Given the description of an element on the screen output the (x, y) to click on. 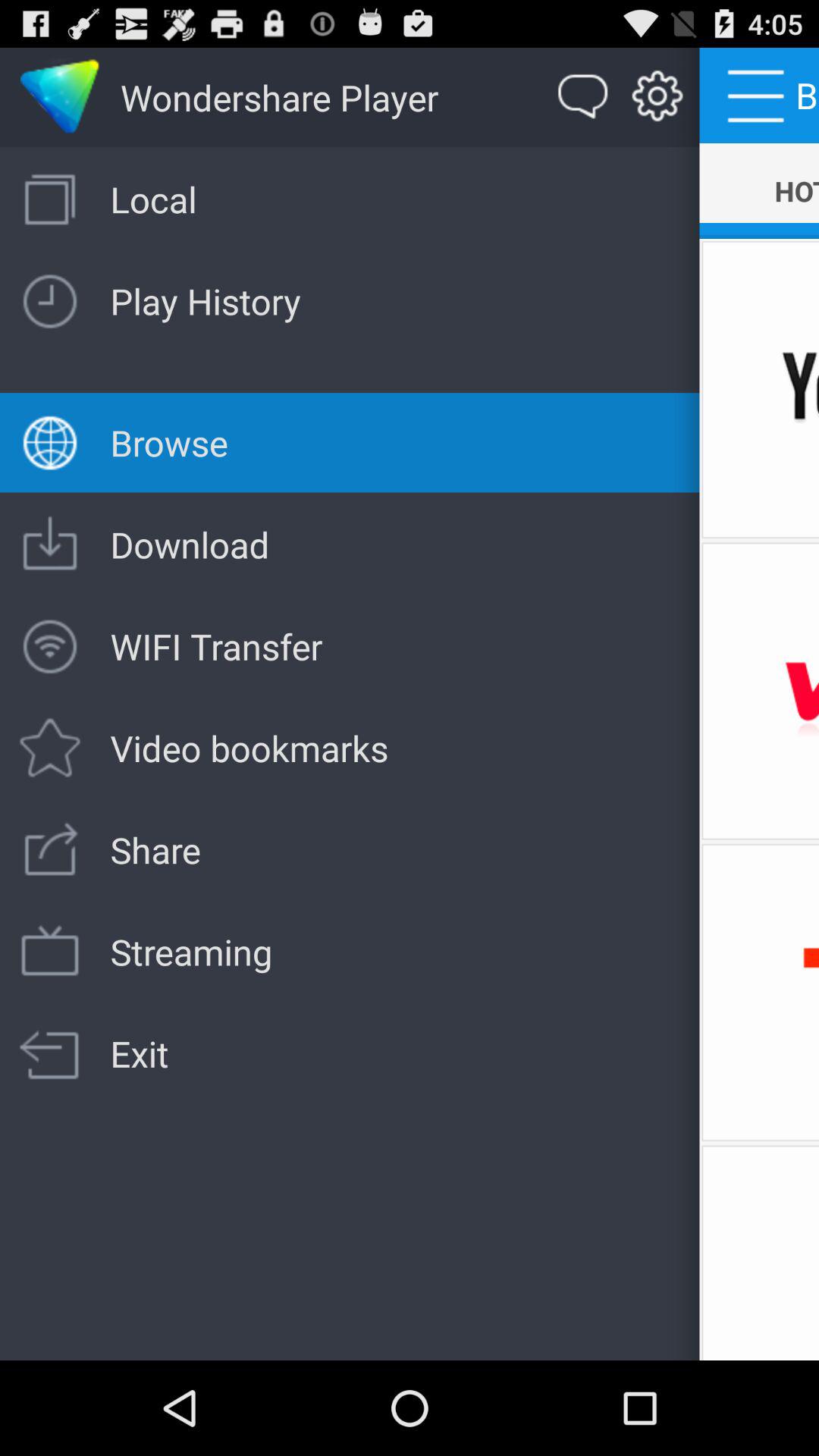
select app above the local icon (657, 97)
